Given the description of an element on the screen output the (x, y) to click on. 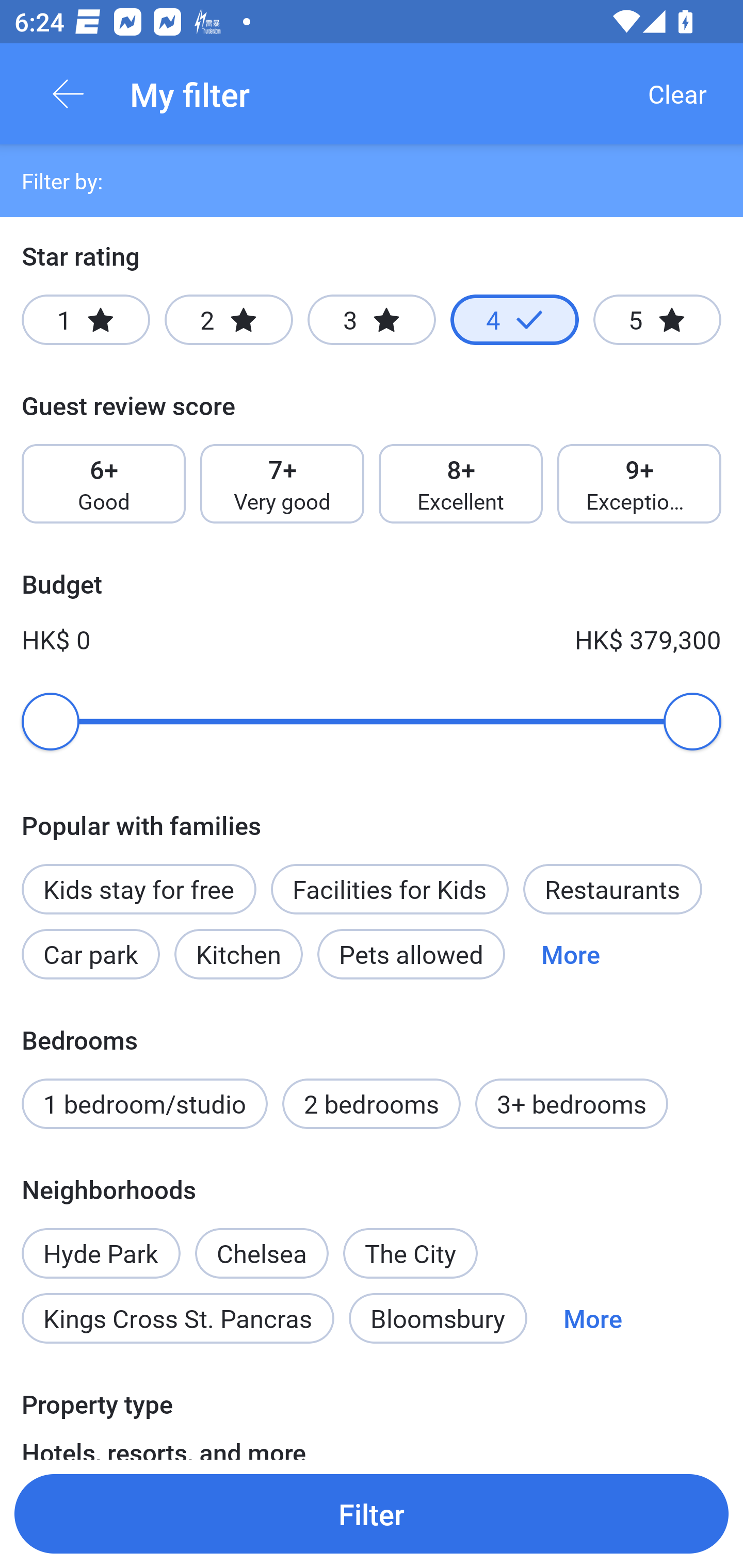
Clear (676, 93)
1 (85, 319)
2 (228, 319)
3 (371, 319)
5 (657, 319)
6+ Good (103, 483)
7+ Very good (281, 483)
8+ Excellent (460, 483)
9+ Exceptional (639, 483)
Kids stay for free (138, 888)
Facilities for Kids (389, 888)
Restaurants (612, 888)
Car park (90, 954)
Kitchen (238, 954)
Pets allowed (411, 954)
More (570, 954)
1 bedroom/studio (144, 1103)
2 bedrooms (371, 1103)
3+ bedrooms (571, 1103)
Hyde Park (100, 1242)
Chelsea (261, 1242)
The City (410, 1253)
Kings Cross St. Pancras (177, 1317)
Bloomsbury (437, 1317)
More (592, 1317)
Filter (371, 1513)
